Given the description of an element on the screen output the (x, y) to click on. 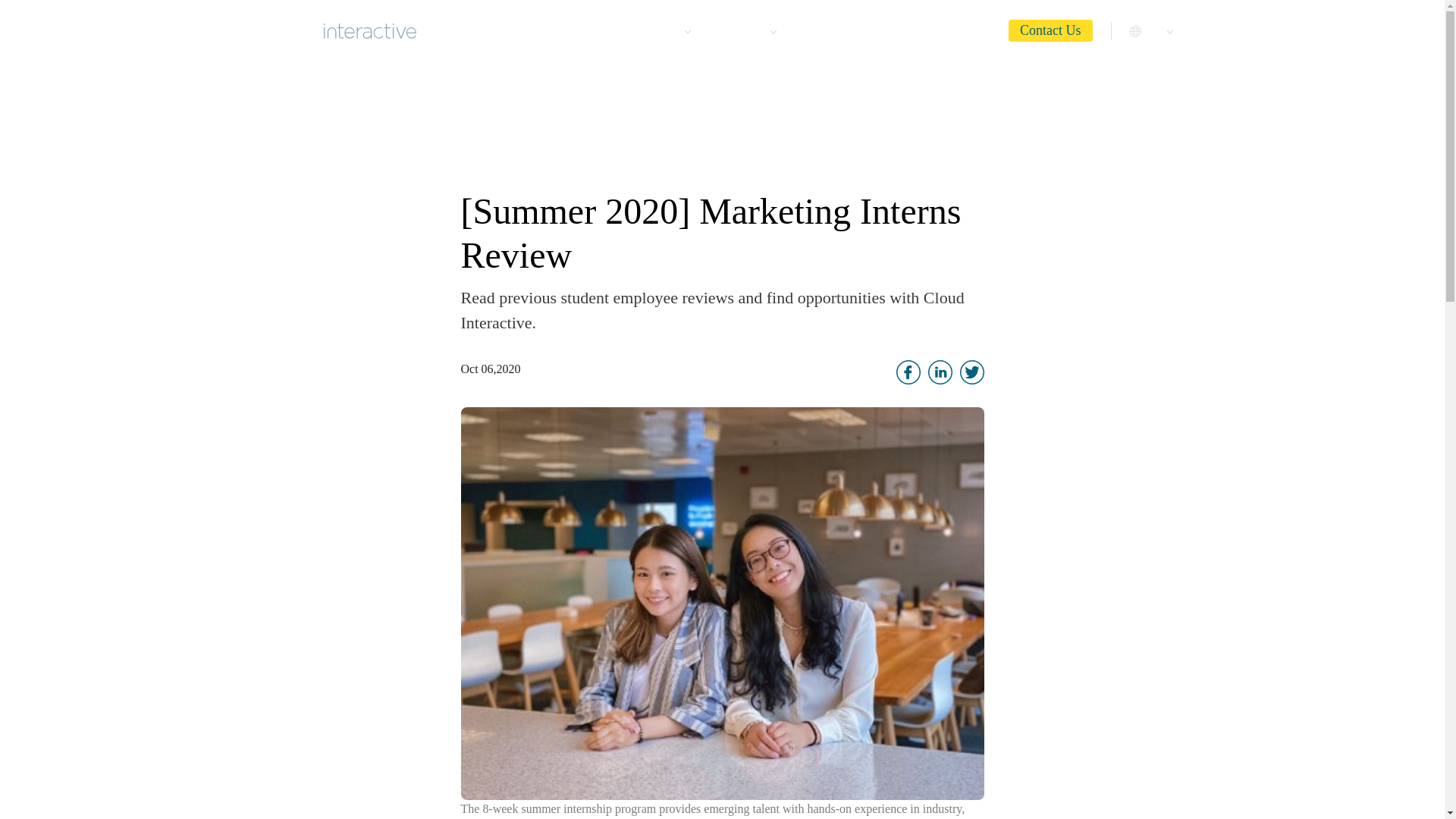
Careers (907, 29)
Contact Us (1051, 30)
EN (1153, 29)
Industries (660, 29)
About Us (582, 29)
Case Studies (834, 29)
Solutions (746, 29)
Insights (968, 29)
